Given the description of an element on the screen output the (x, y) to click on. 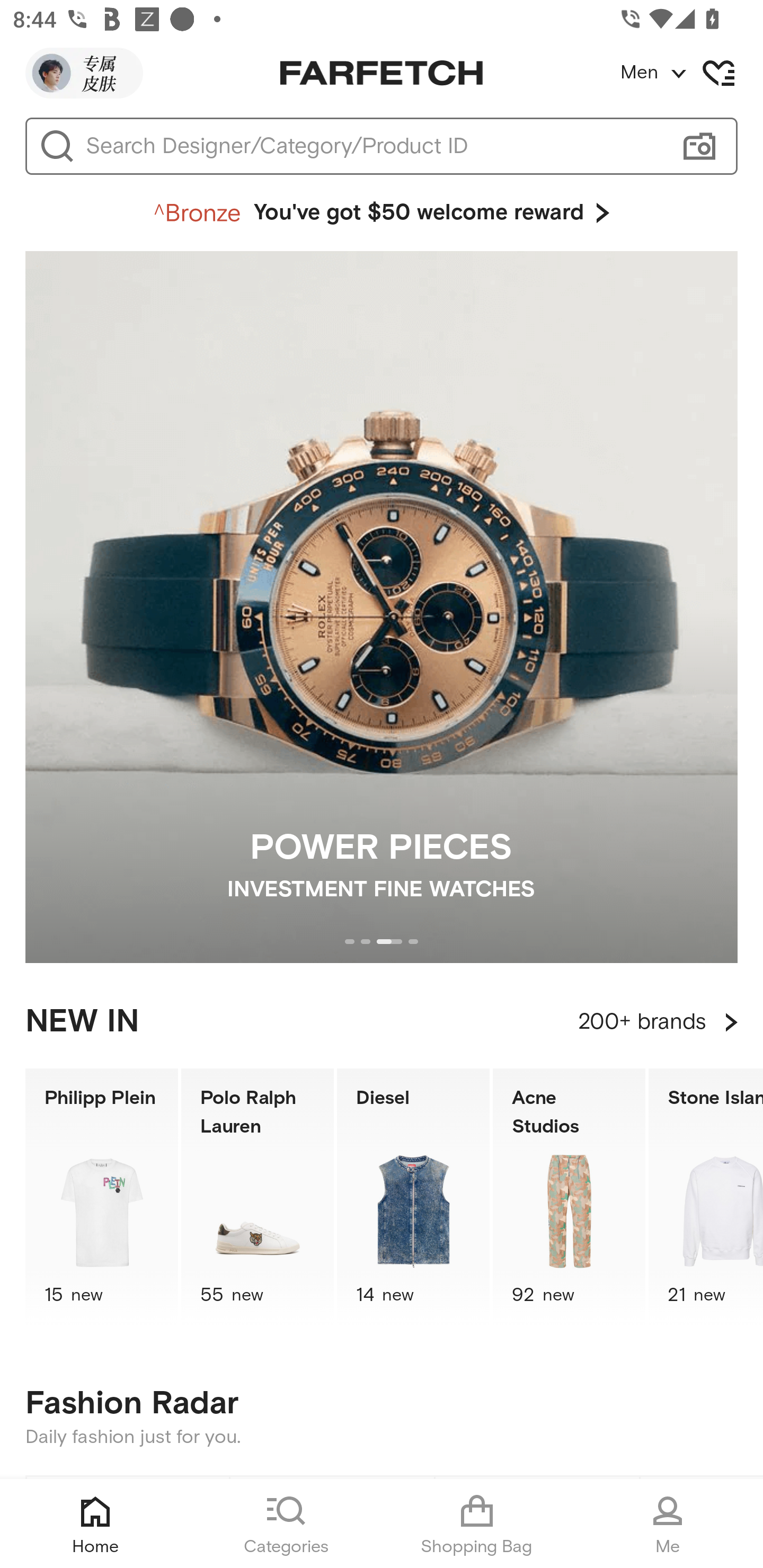
Men (691, 72)
Search Designer/Category/Product ID (373, 146)
You've got $50 welcome reward (381, 213)
NEW IN 200+ brands (381, 1021)
Philipp Plein 15  new (101, 1196)
Polo Ralph Lauren 55  new (257, 1196)
Diesel 14  new (413, 1196)
Acne Studios 92  new (568, 1196)
Stone Island 21  new (705, 1196)
Sale (127, 1477)
Categories (285, 1523)
Shopping Bag (476, 1523)
Me (667, 1523)
